Given the description of an element on the screen output the (x, y) to click on. 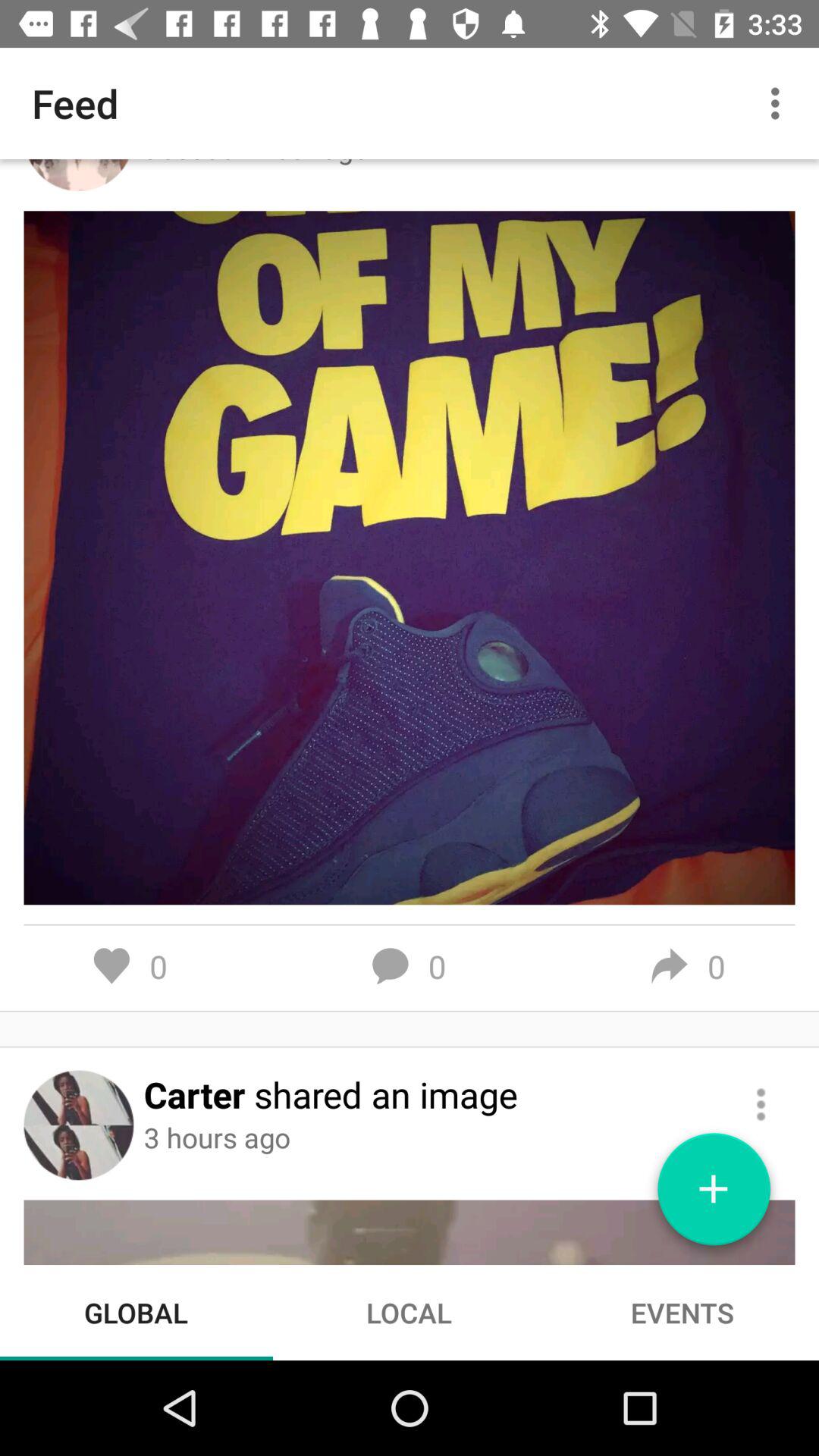
user avatar (78, 1125)
